Given the description of an element on the screen output the (x, y) to click on. 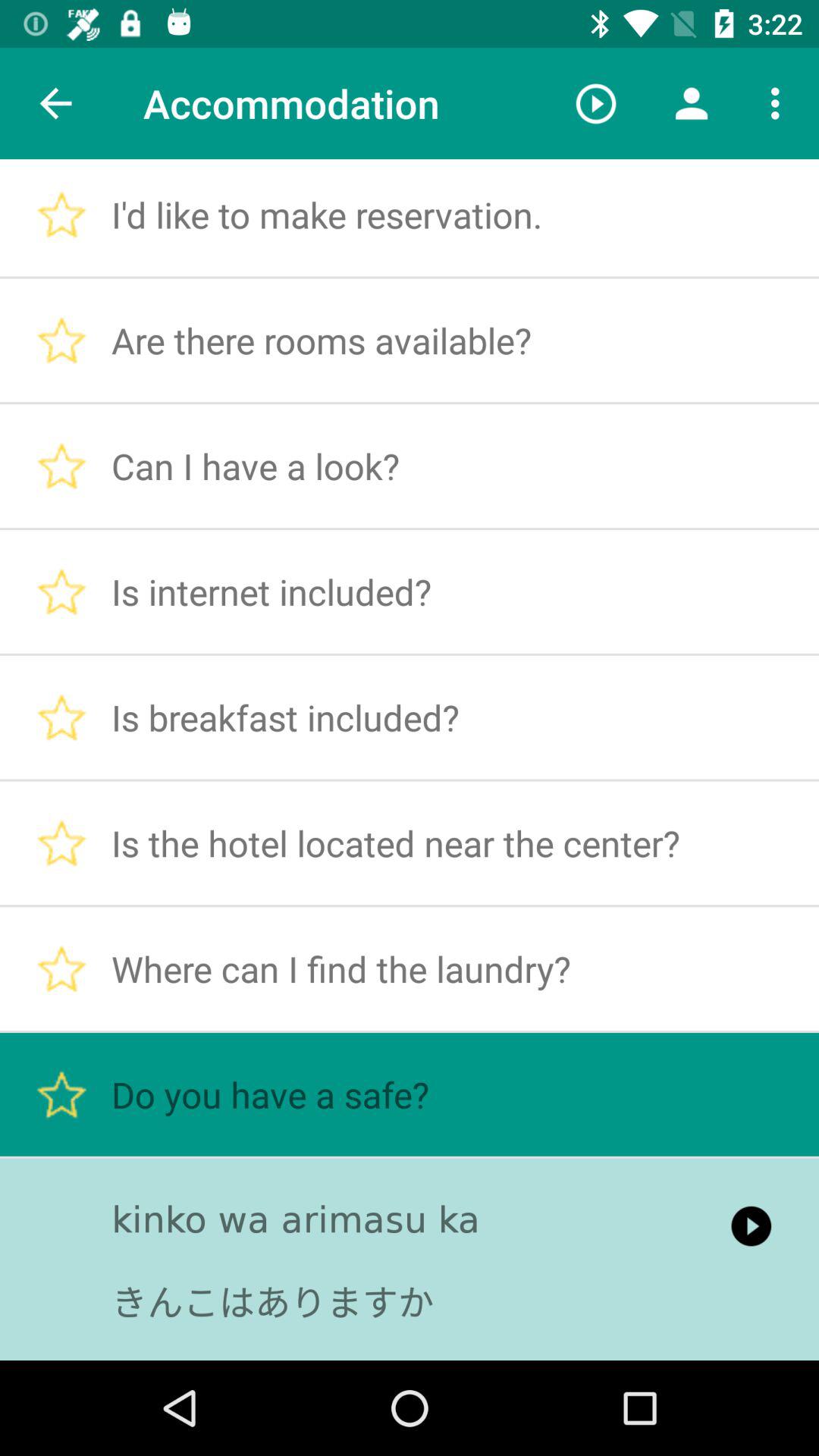
launch icon to the right of the accommodation item (595, 103)
